Given the description of an element on the screen output the (x, y) to click on. 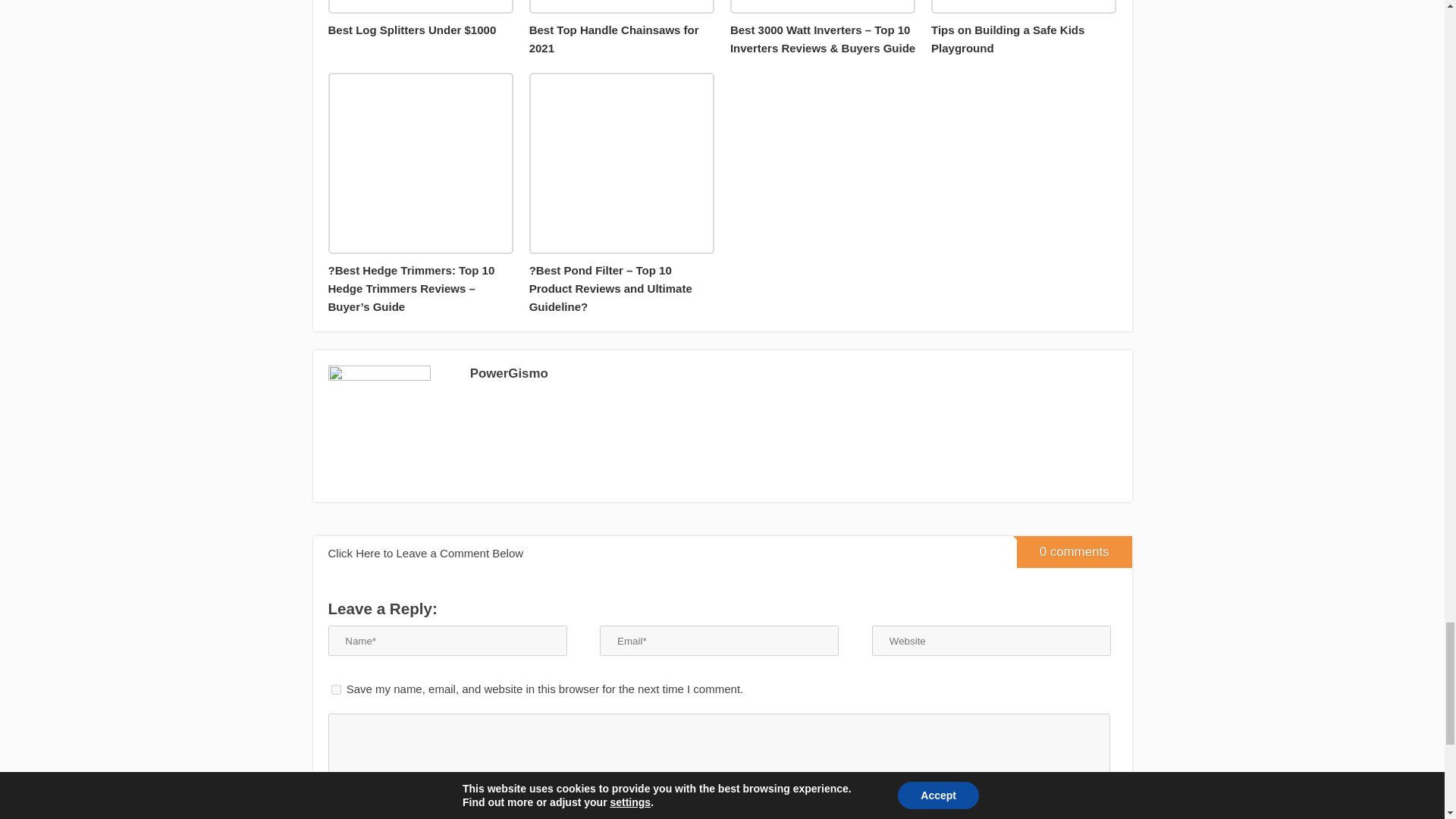
Tips on Building a Safe Kids Playground (1023, 28)
yes (335, 689)
Best Top Handle Chainsaws for 2021 (621, 28)
